Given the description of an element on the screen output the (x, y) to click on. 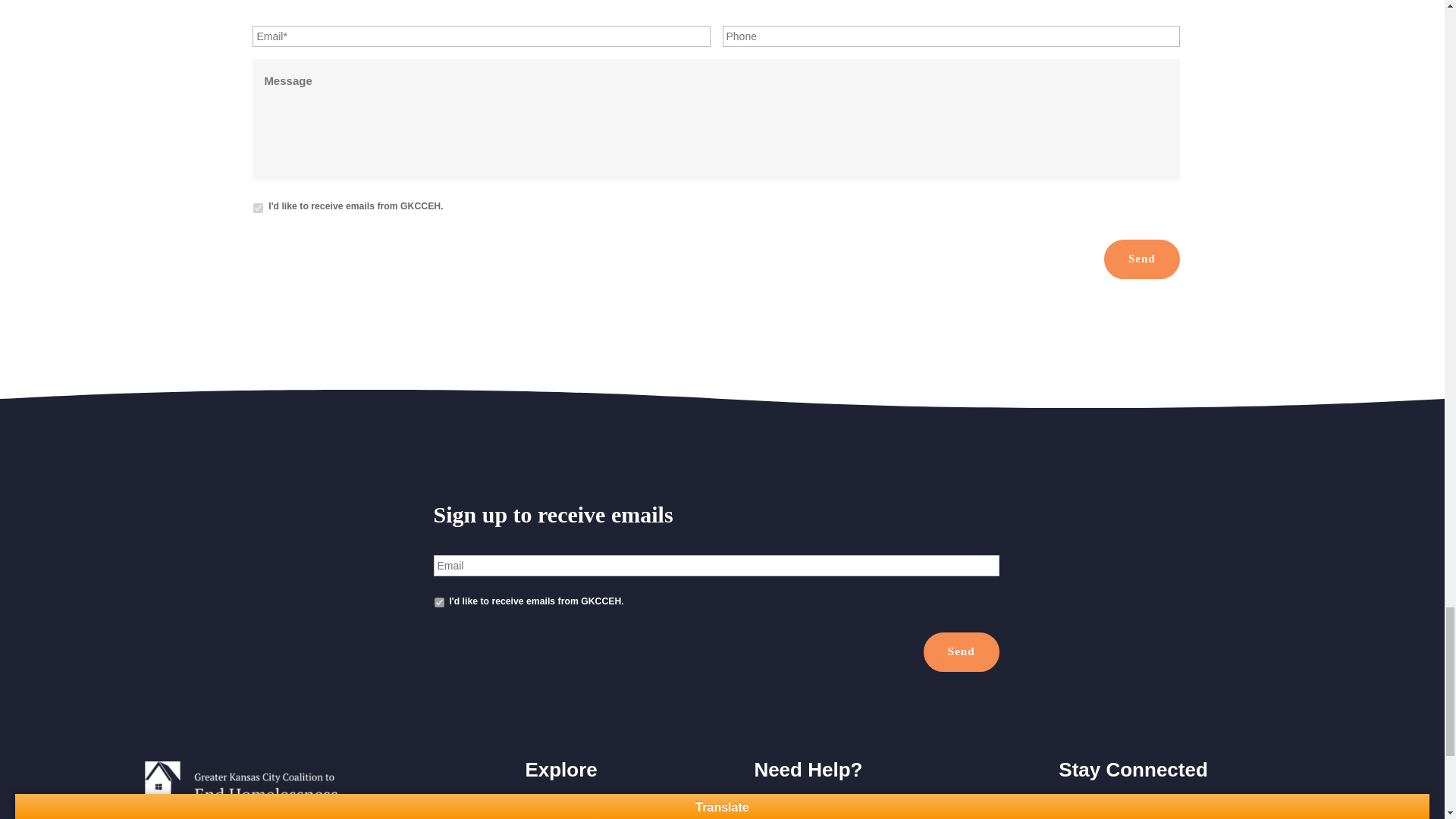
Send (960, 651)
Send (1141, 259)
true (438, 602)
true (258, 207)
